Given the description of an element on the screen output the (x, y) to click on. 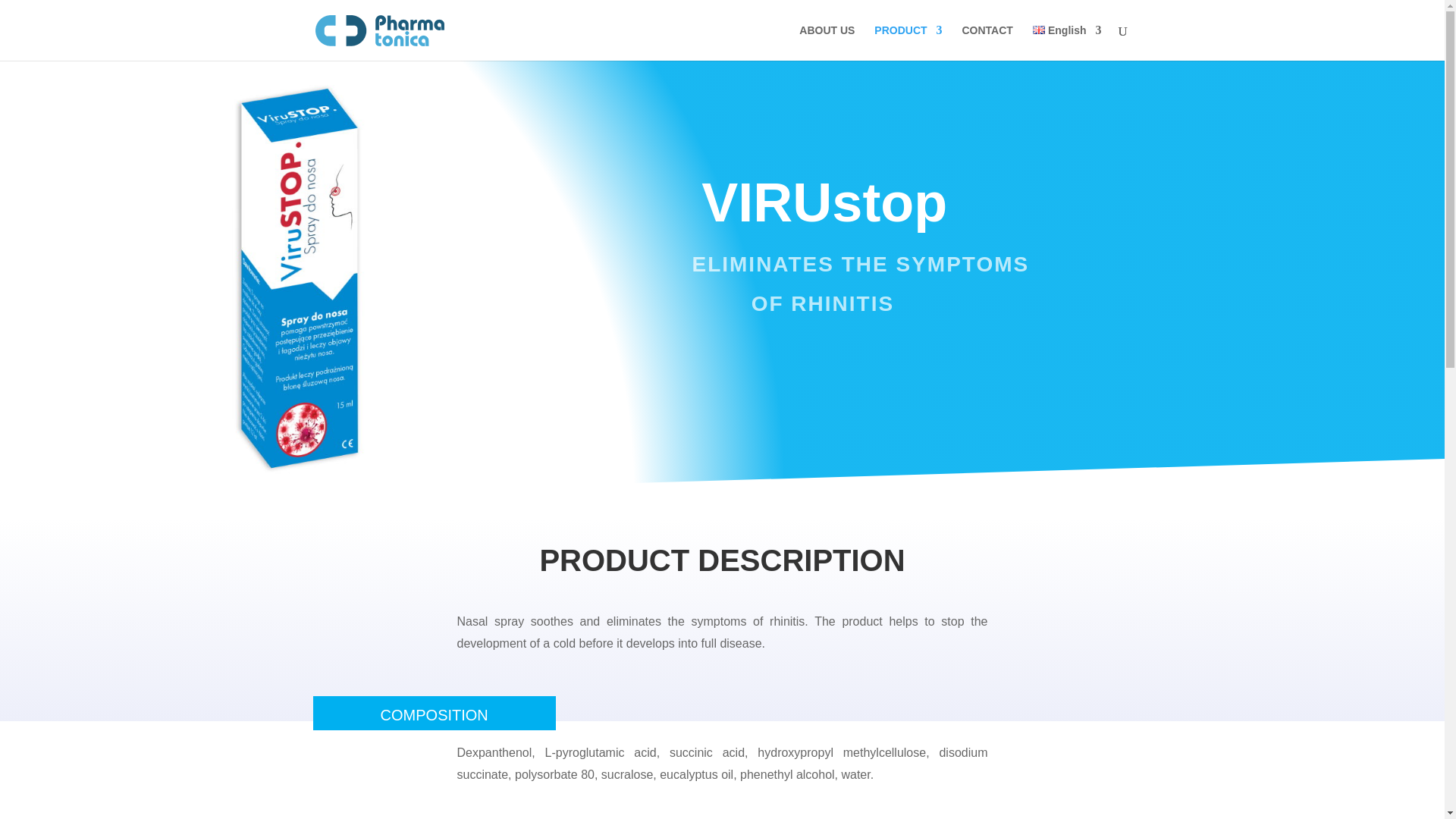
ABOUT US (826, 42)
CONTACT (985, 42)
English (1067, 42)
PRODUCT (908, 42)
